Given the description of an element on the screen output the (x, y) to click on. 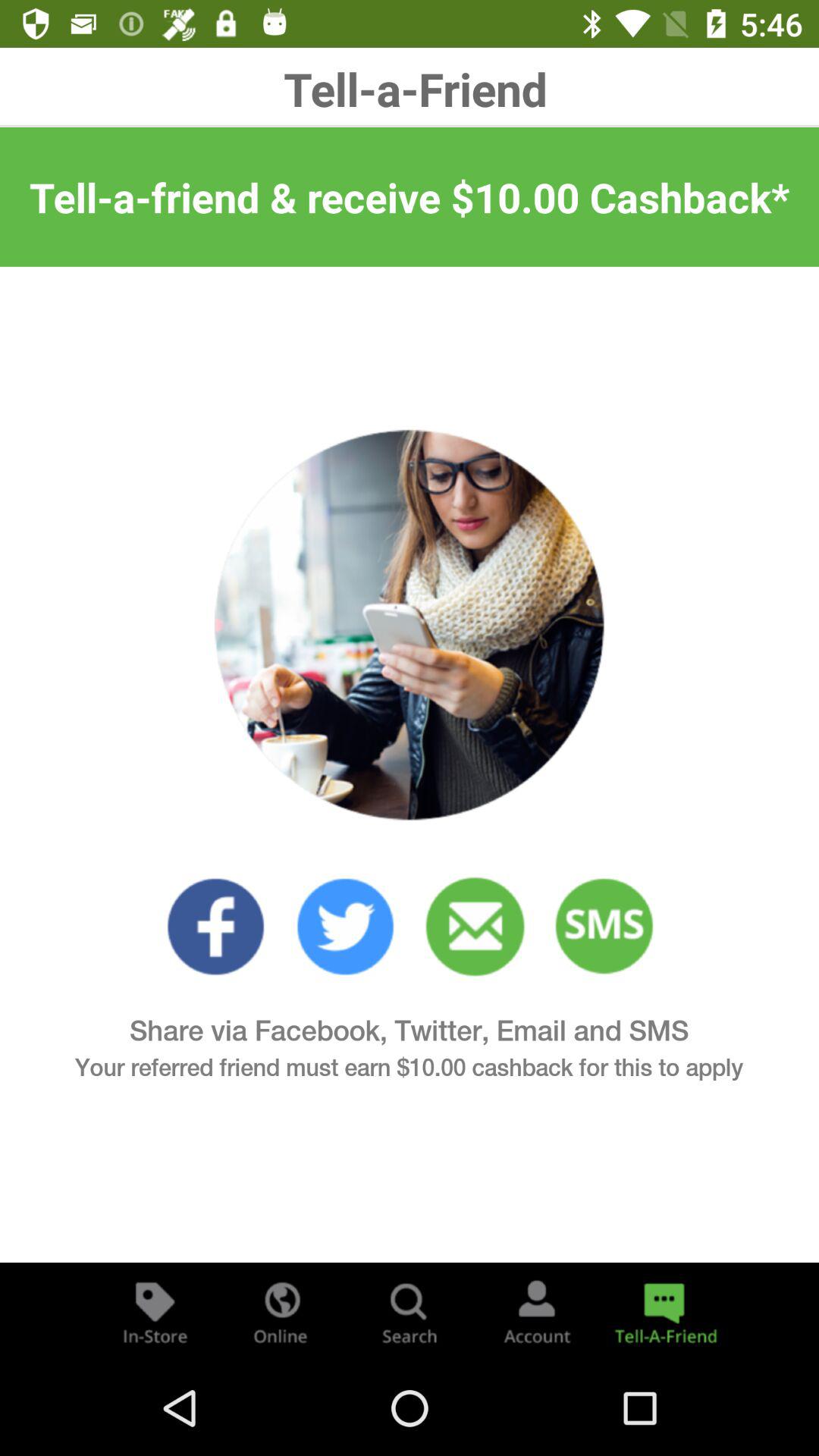
search option (409, 1311)
